Given the description of an element on the screen output the (x, y) to click on. 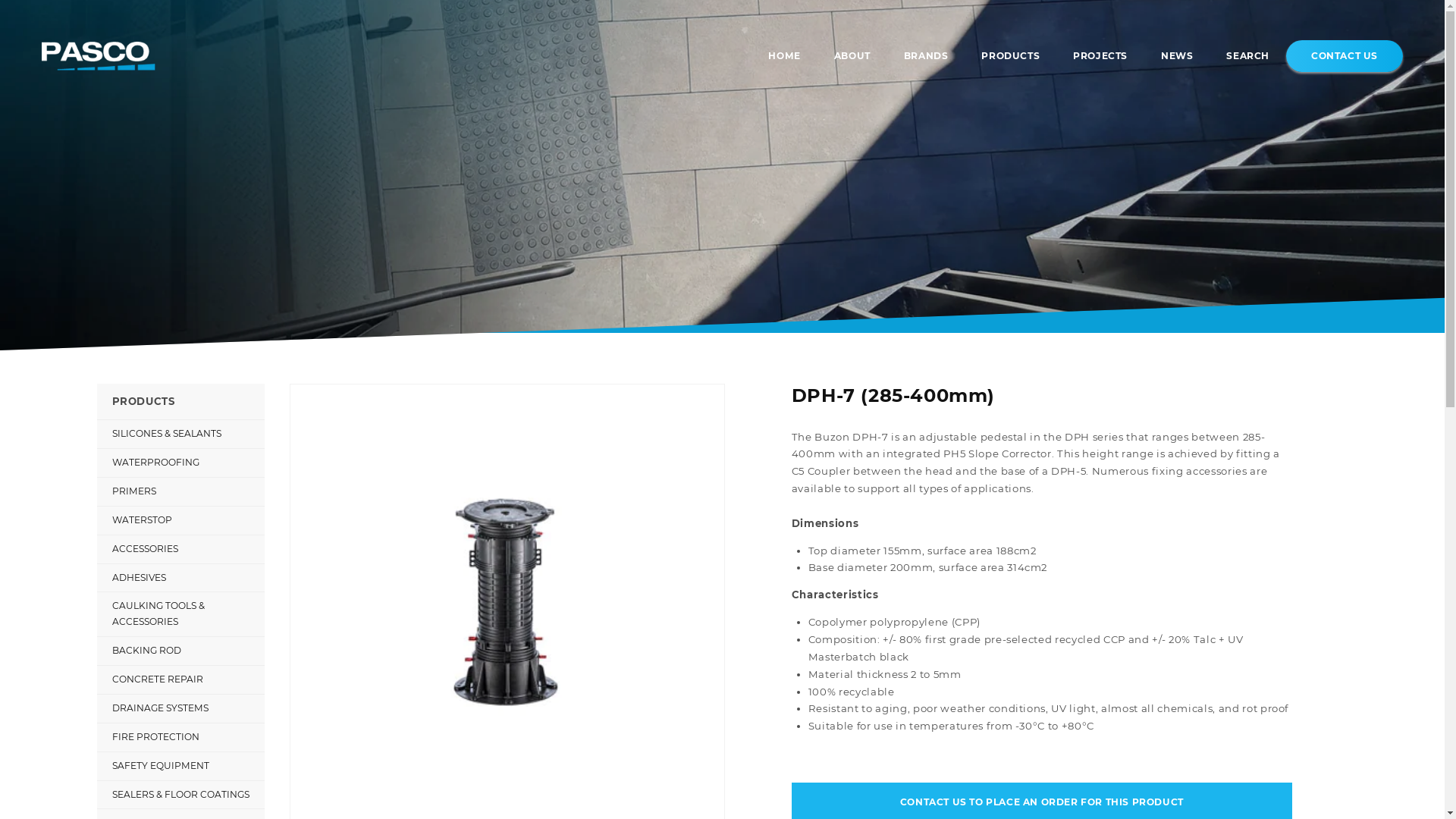
FIRE PROTECTION Element type: text (180, 737)
CONTACT US Element type: text (1344, 56)
ADHESIVES Element type: text (180, 578)
SILICONES & SEALANTS Element type: text (180, 434)
BACKING ROD Element type: text (180, 651)
DRAINAGE SYSTEMS Element type: text (180, 708)
PROJECTS Element type: text (1100, 55)
SAFETY EQUIPMENT Element type: text (180, 766)
HOME Element type: text (783, 55)
CONCRETE REPAIR Element type: text (180, 679)
CAULKING TOOLS & ACCESSORIES Element type: text (180, 614)
WATERSTOP Element type: text (180, 520)
Skip to product information Element type: text (338, 402)
ABOUT Element type: text (852, 55)
ACCESSORIES Element type: text (180, 549)
WATERPROOFING Element type: text (180, 462)
NEWS Element type: text (1176, 55)
SEALERS & FLOOR COATINGS Element type: text (180, 795)
PRIMERS Element type: text (180, 491)
